Given the description of an element on the screen output the (x, y) to click on. 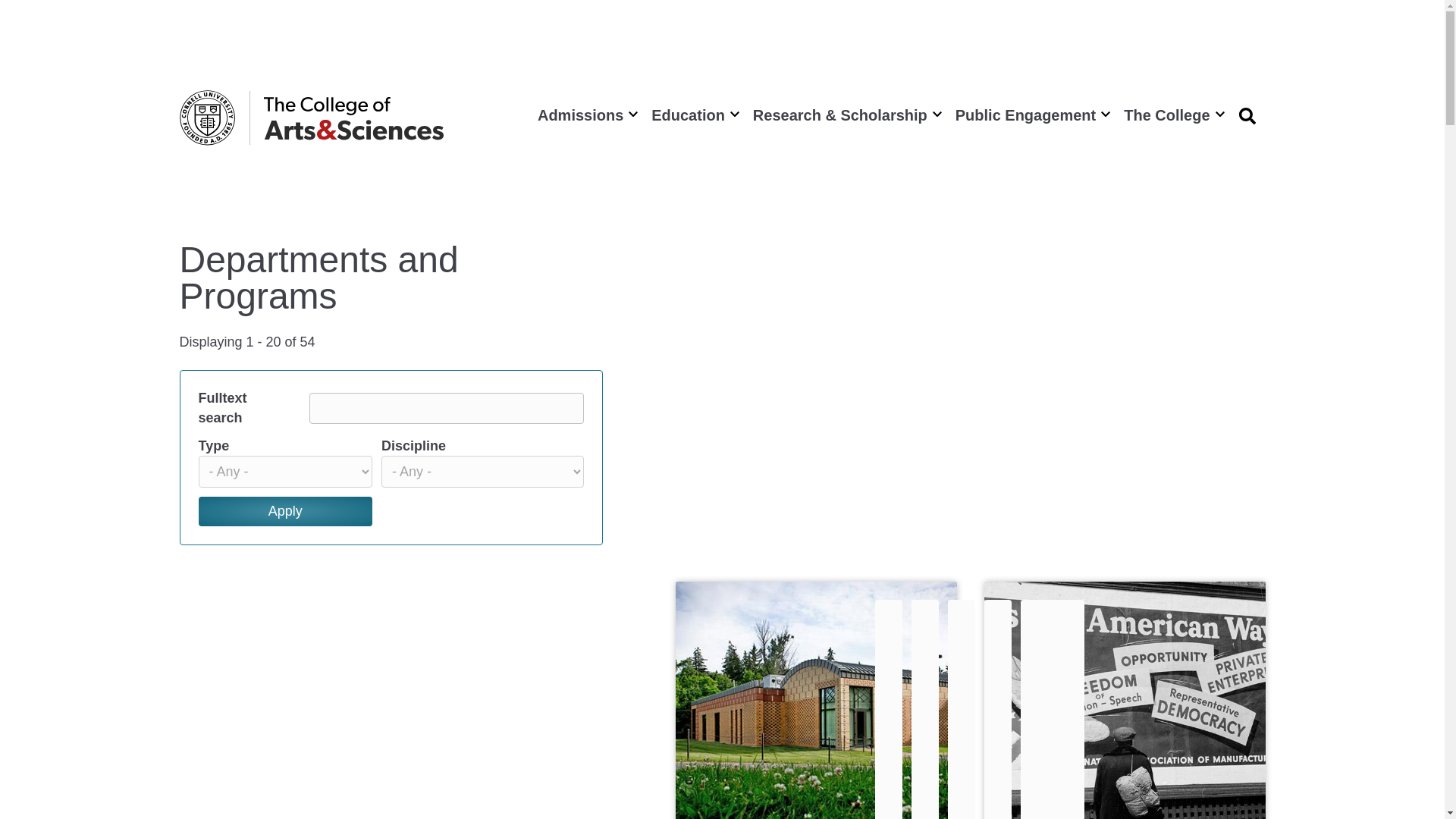
Admissions (585, 115)
Public Engagement (1030, 115)
Apply (285, 511)
Education (693, 115)
Cornell University (206, 117)
Cornell University (206, 117)
The College (1171, 115)
